Given the description of an element on the screen output the (x, y) to click on. 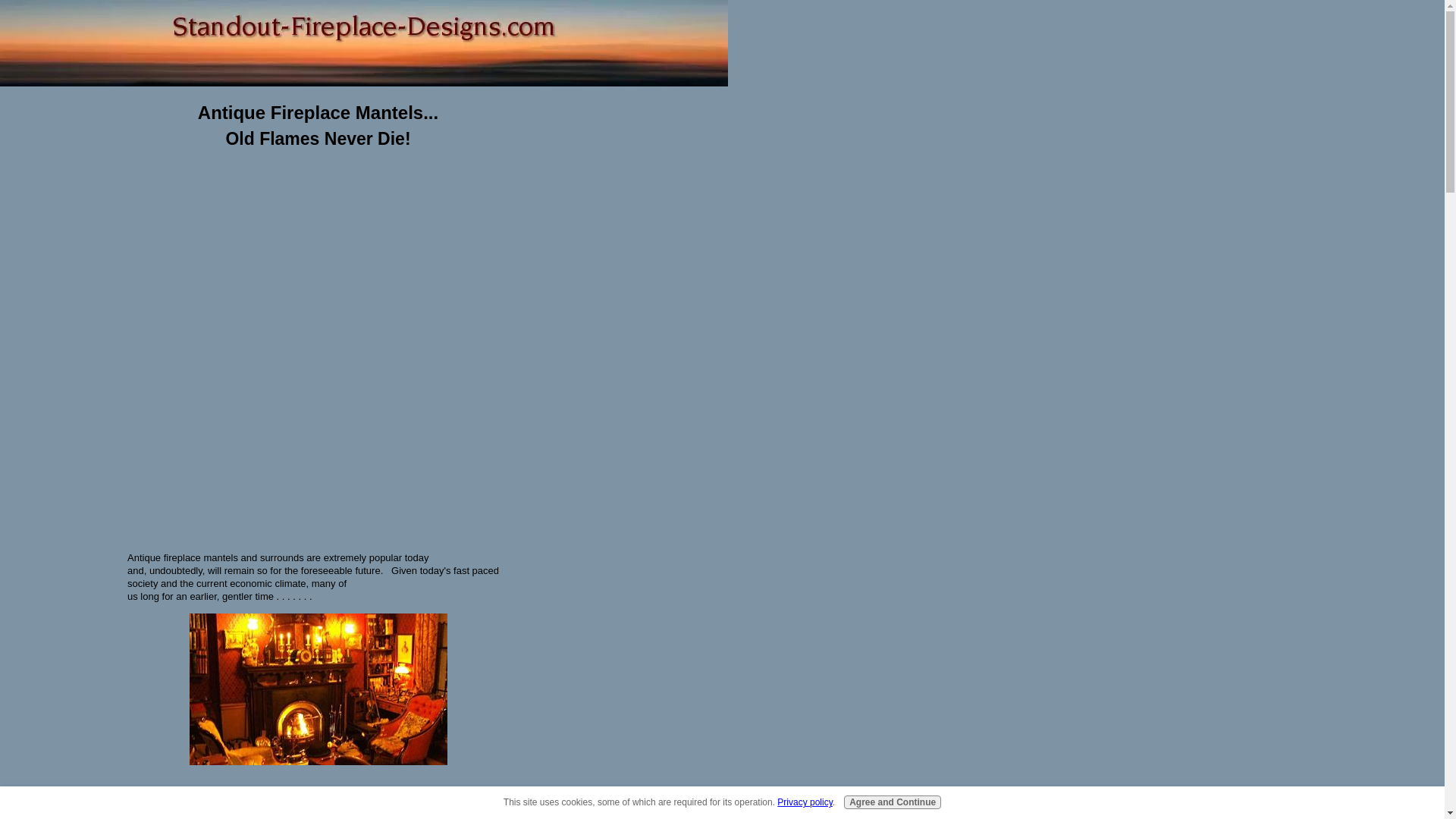
Privacy policy (804, 801)
antique fireplace (317, 688)
antique fireplace (413, 811)
Agree and Continue (892, 802)
